Given the description of an element on the screen output the (x, y) to click on. 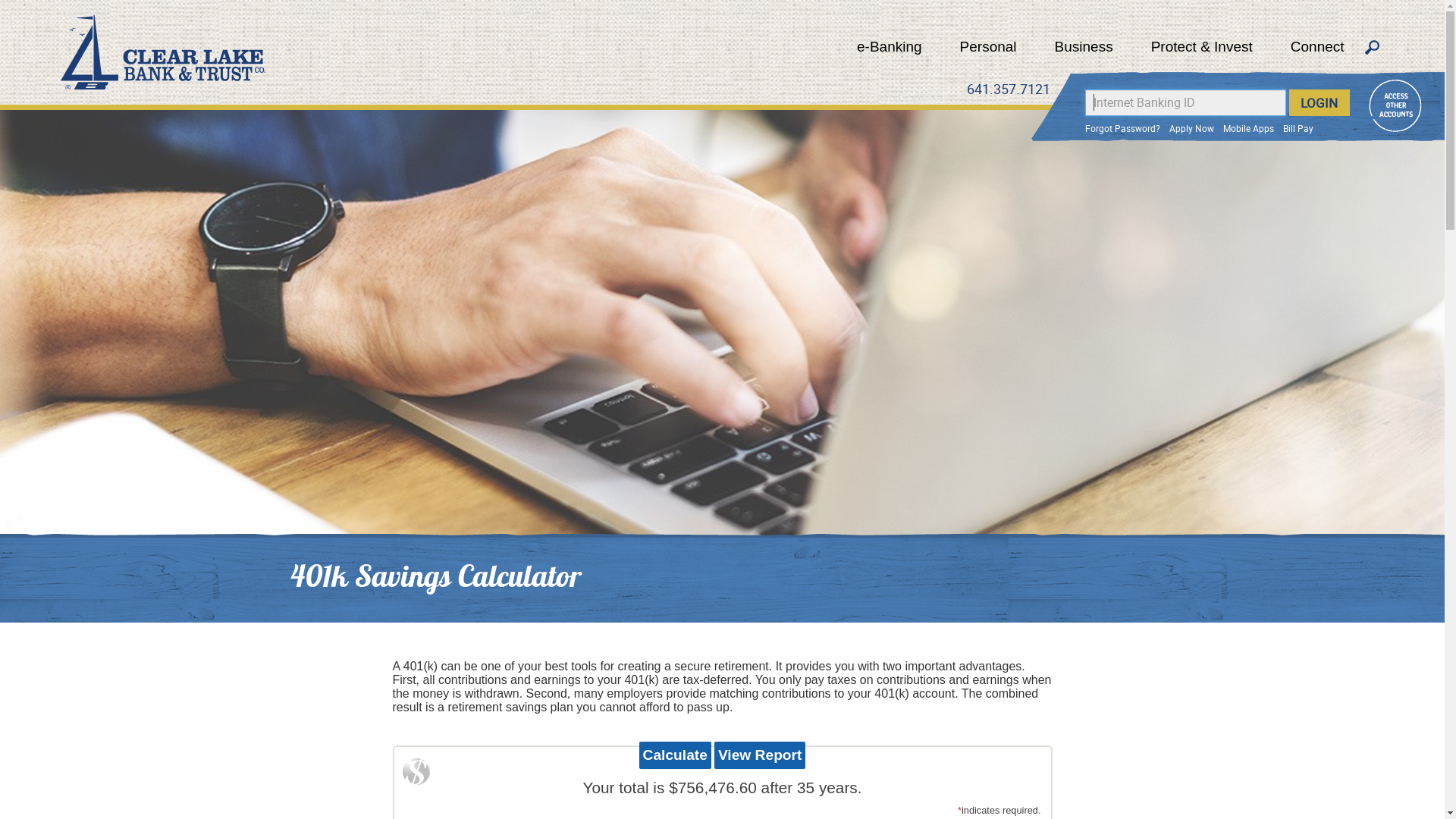
Bill Pay Element type: text (1298, 128)
Mobile Apps Element type: text (1248, 128)
Apply Now Element type: text (1191, 128)
Forgot Password?
(Opens in a new Window) Element type: text (1122, 128)
Clear Lake Bank & Trust, Clear Lake, IA Element type: hover (162, 52)
Search Element type: text (1371, 48)
LOGIN Element type: text (1319, 102)
